Given the description of an element on the screen output the (x, y) to click on. 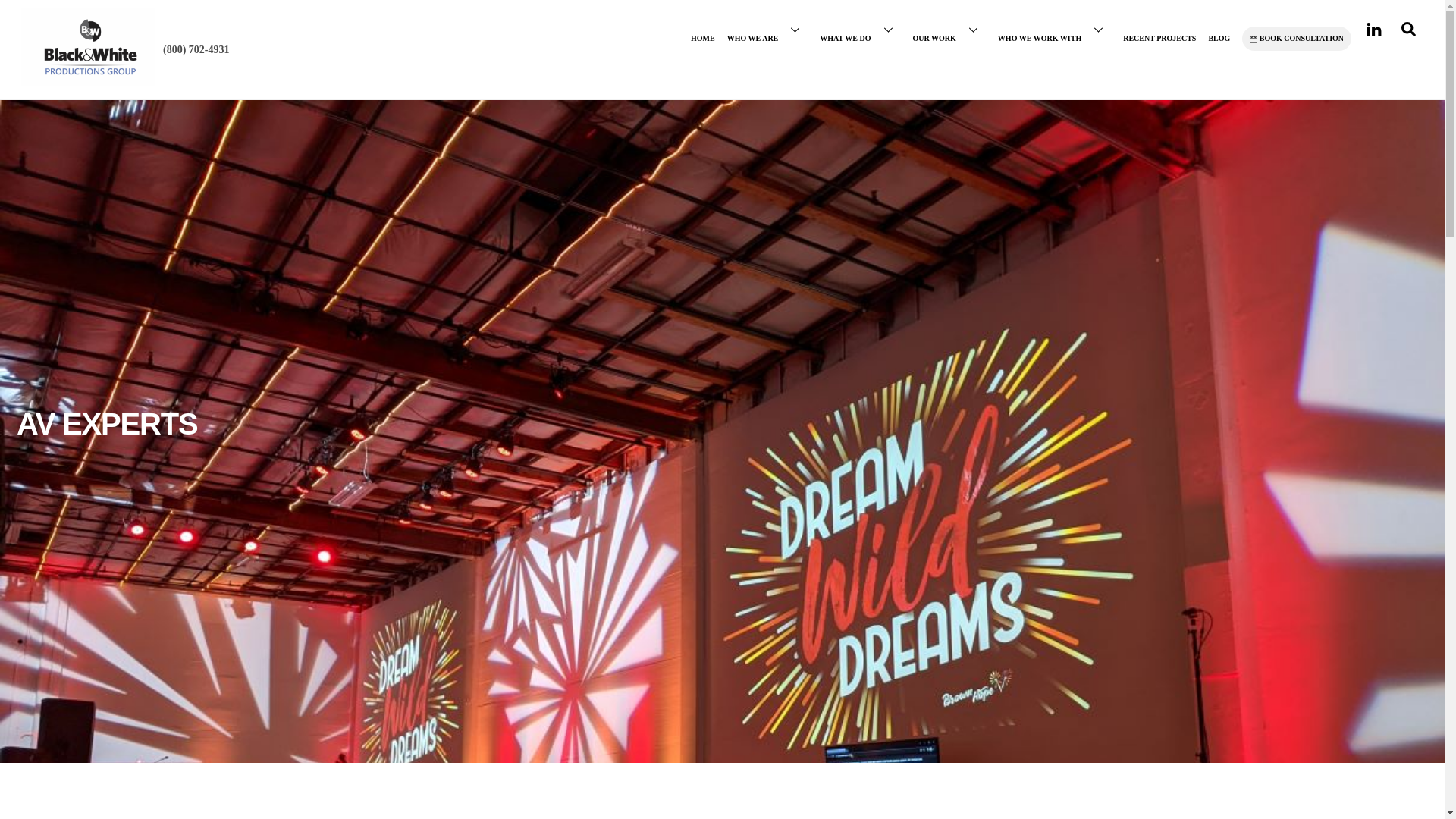
RECENT PROJECTS (1158, 28)
WHO WE WORK WITH (1053, 28)
WHAT WE DO (859, 28)
OUR WORK (949, 28)
SEARCH (1408, 28)
01black (88, 46)
WHO WE ARE (767, 28)
BOOK CONSULTATION (1296, 38)
